Given the description of an element on the screen output the (x, y) to click on. 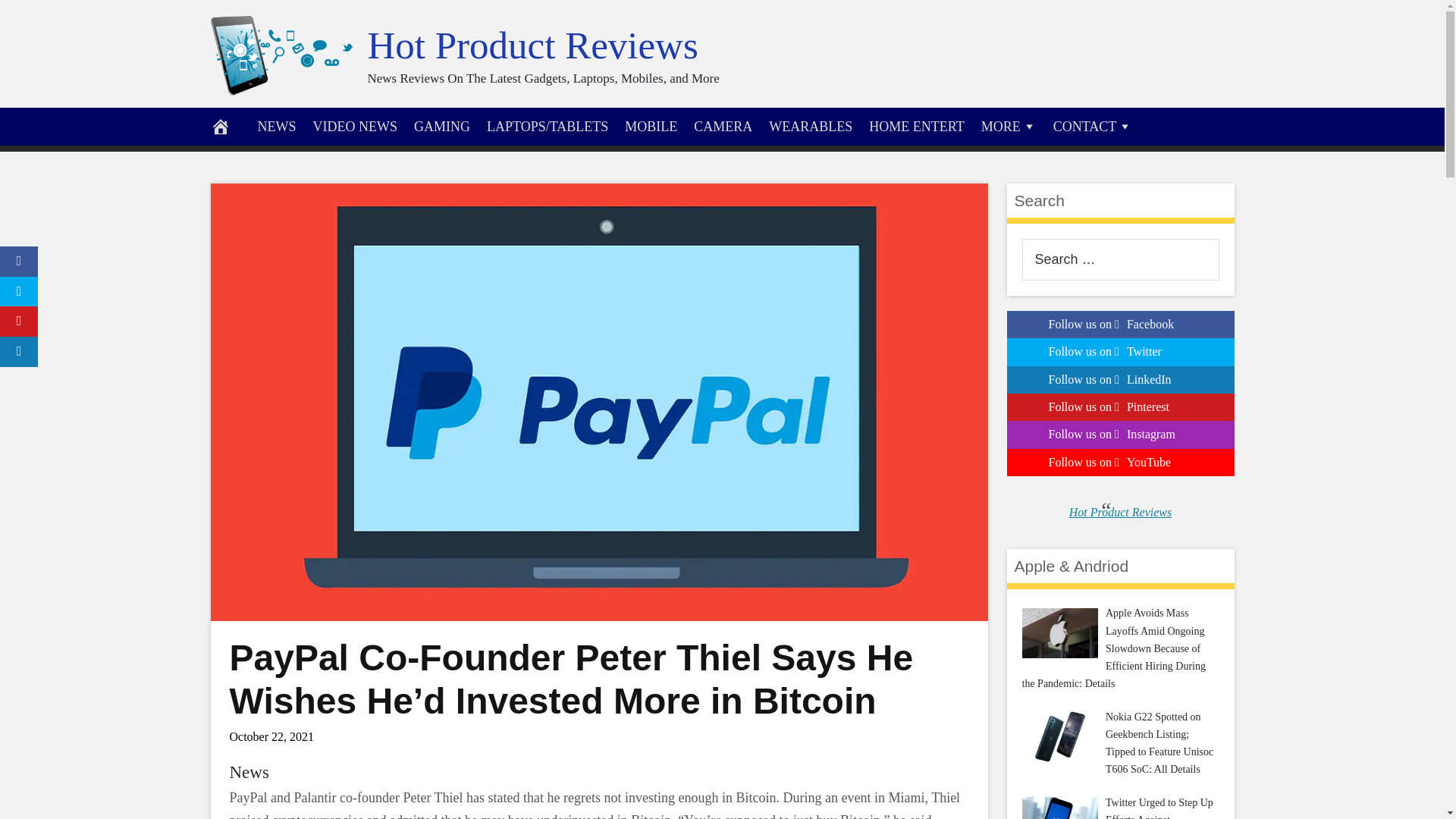
WEARABLES (810, 126)
HOME ENTERT (916, 126)
VIDEO NEWS (355, 126)
MORE (1008, 126)
NEWS (276, 126)
MOBILE (650, 126)
CONTACT (1093, 126)
News (247, 772)
GAMING (442, 126)
CAMERA (722, 126)
Hot Product Reviews (531, 45)
